Given the description of an element on the screen output the (x, y) to click on. 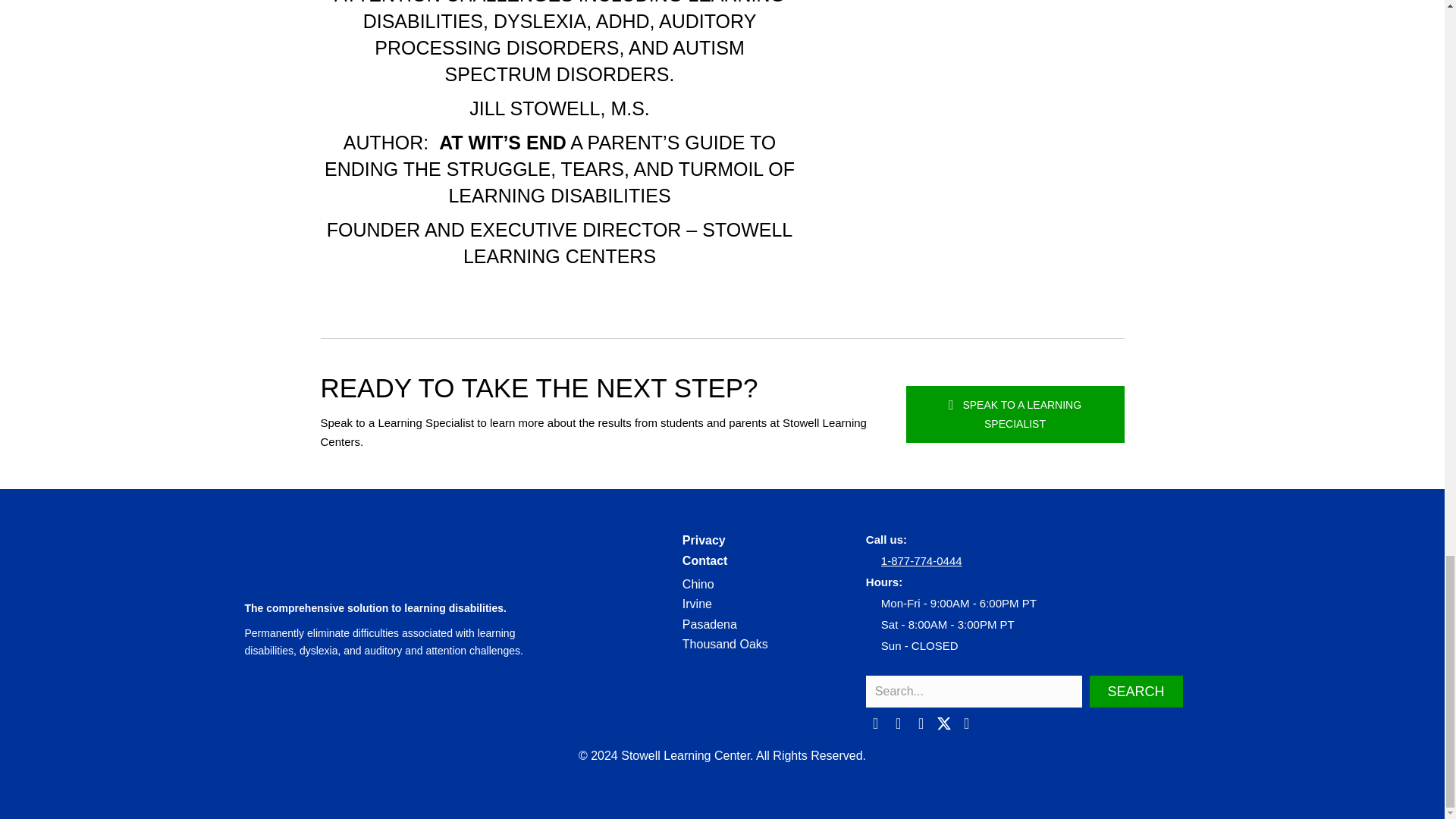
SLC Logo - White (380, 555)
Instagram (898, 723)
